Given the description of an element on the screen output the (x, y) to click on. 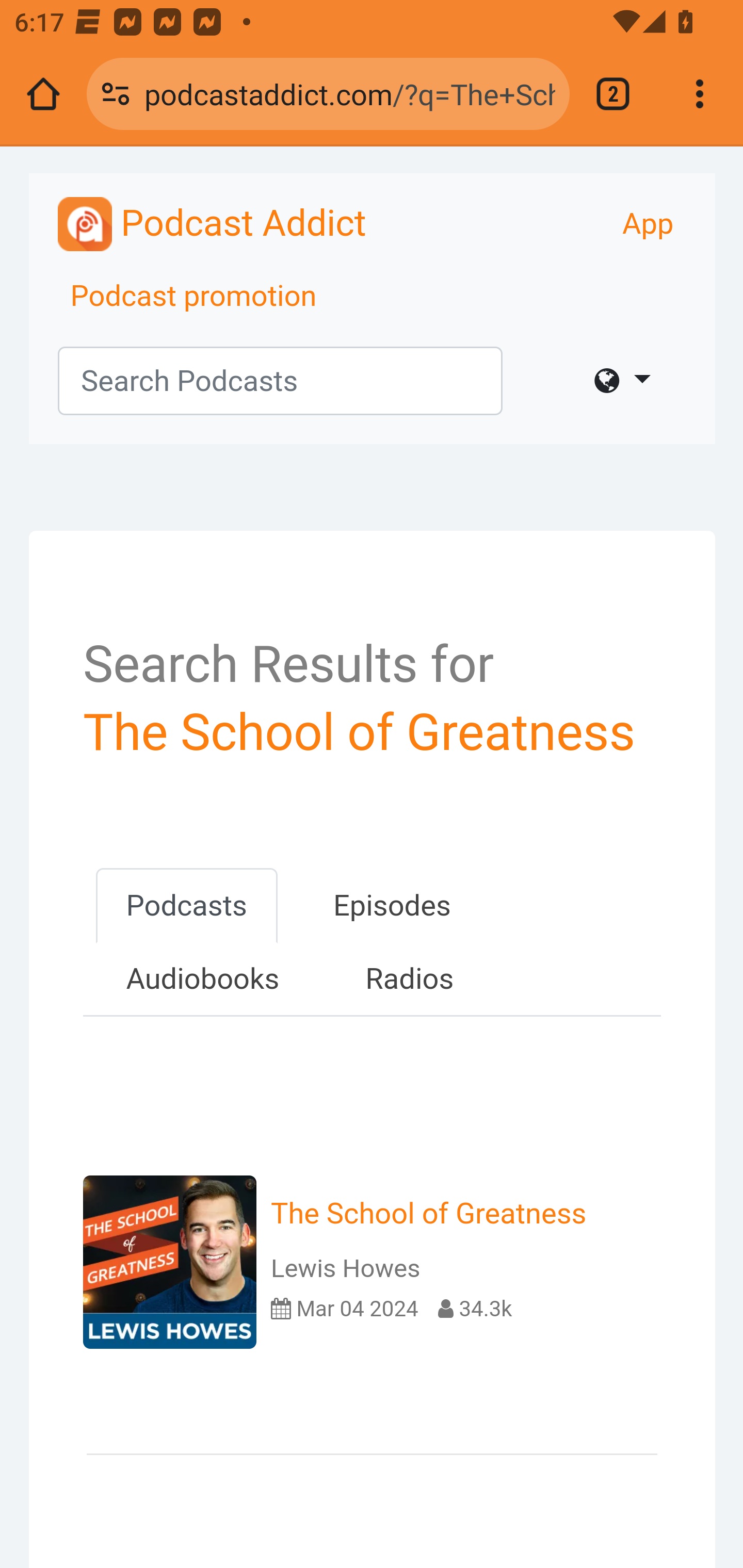
Open the home page (43, 93)
Connection is secure (115, 93)
Switch or close tabs (612, 93)
Customize and control Google Chrome (699, 93)
podcastaddict.com/?q=The+School+of+Greatness (349, 92)
App (648, 224)
Podcast promotion (193, 296)
 (622, 380)
Podcasts (185, 905)
Episodes (391, 905)
Audiobooks (201, 978)
Radios (409, 978)
